Given the description of an element on the screen output the (x, y) to click on. 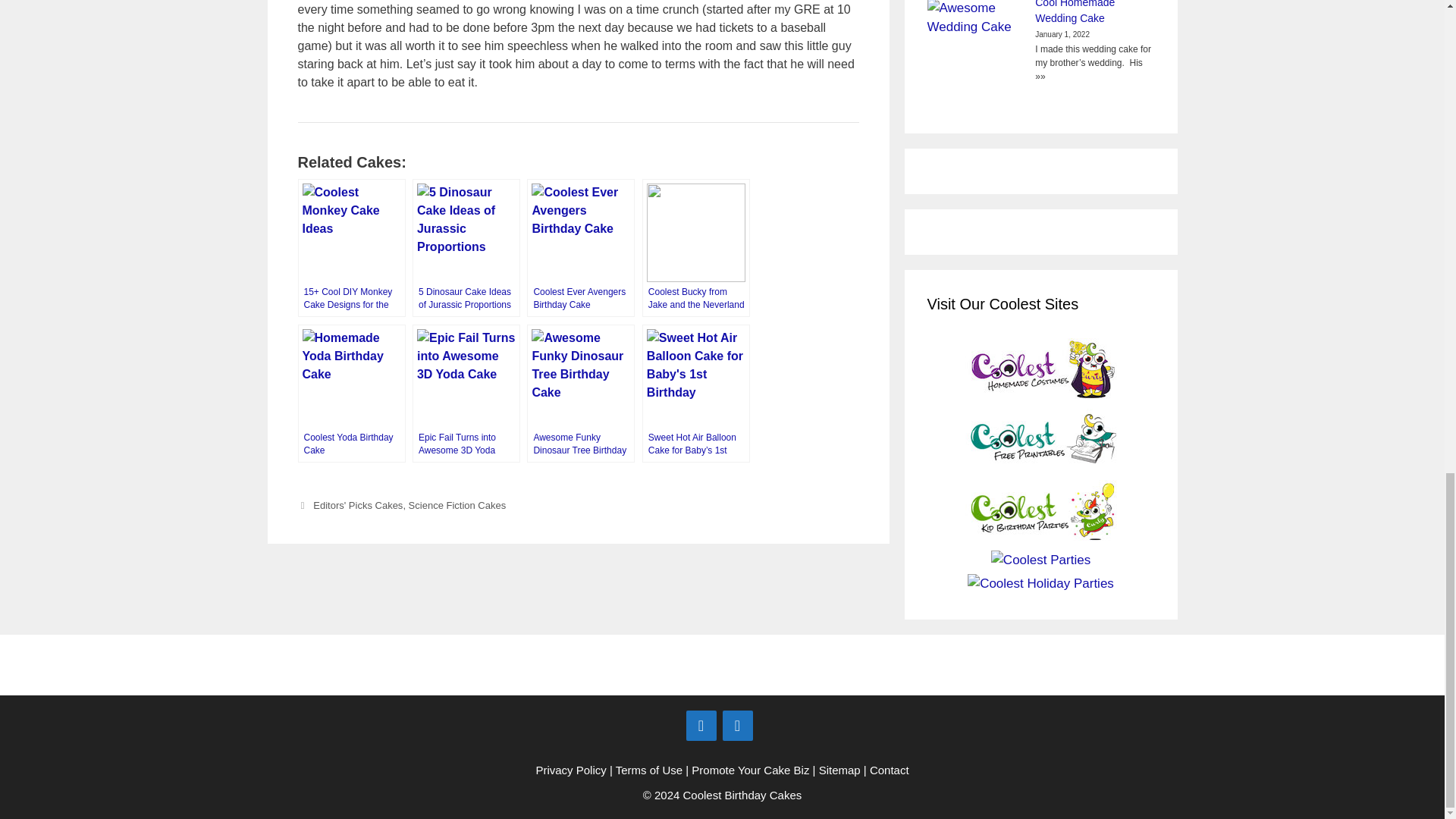
Instagram (737, 725)
Facebook (700, 725)
